Given the description of an element on the screen output the (x, y) to click on. 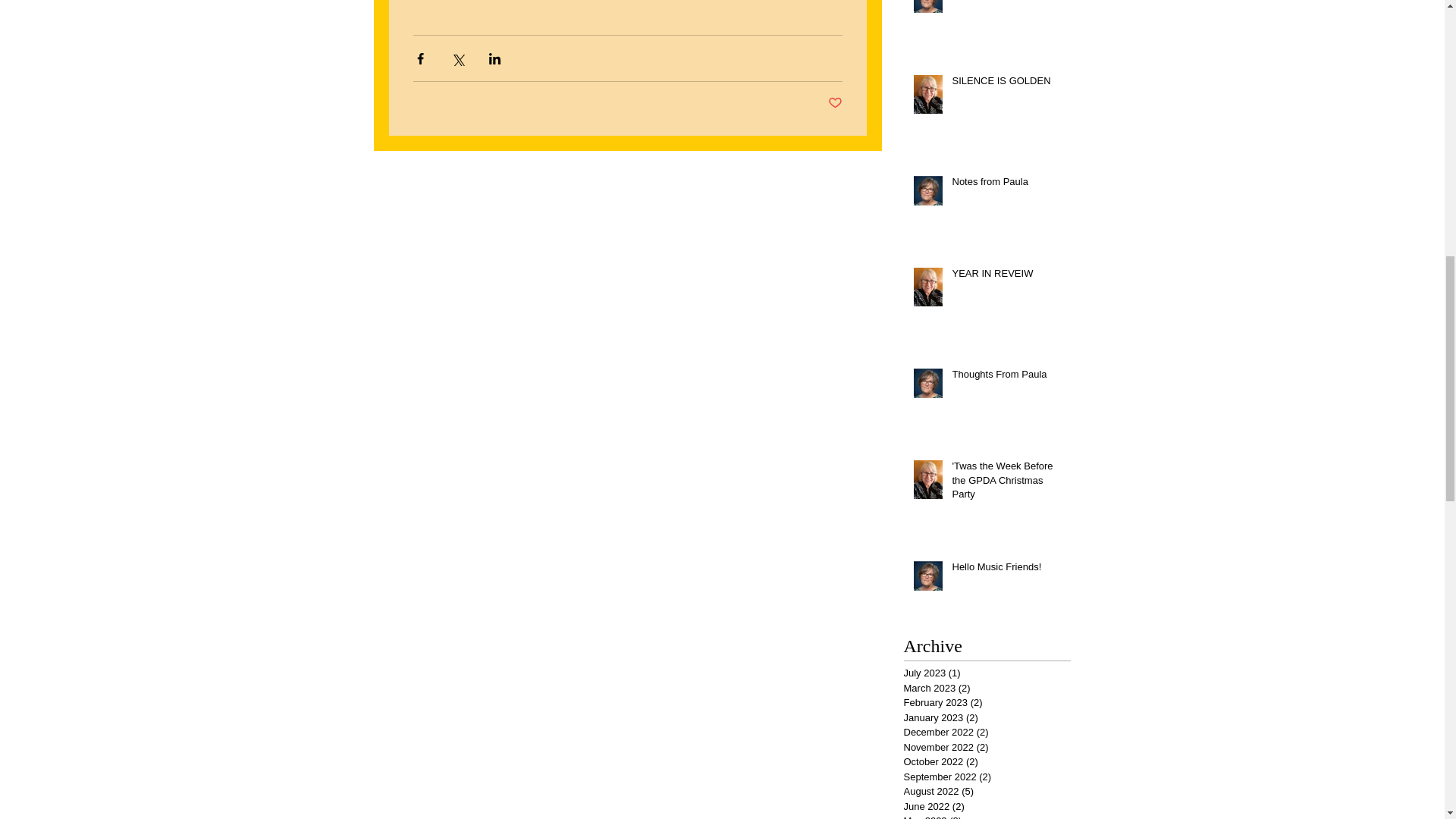
Thoughts From Paula (1006, 377)
Notes from Paula (1006, 184)
HELLO FRIENDS (1006, 1)
Hello Music Friends! (1006, 569)
Post not marked as liked (835, 103)
SILENCE IS GOLDEN (1006, 84)
'Twas the Week Before the GPDA Christmas Party (1006, 482)
YEAR IN REVEIW (1006, 276)
